Given the description of an element on the screen output the (x, y) to click on. 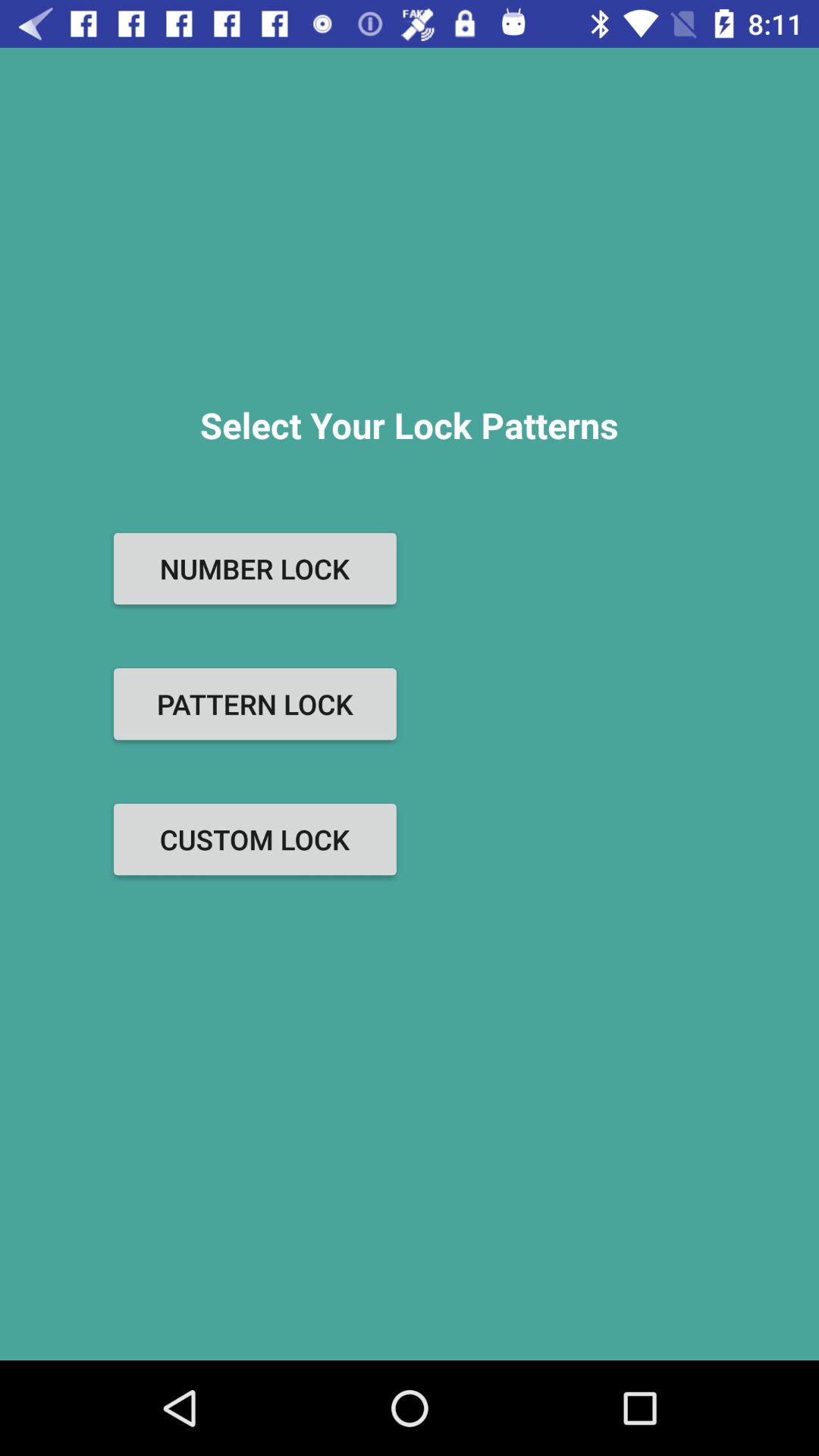
tap icon above the pattern lock (254, 568)
